Given the description of an element on the screen output the (x, y) to click on. 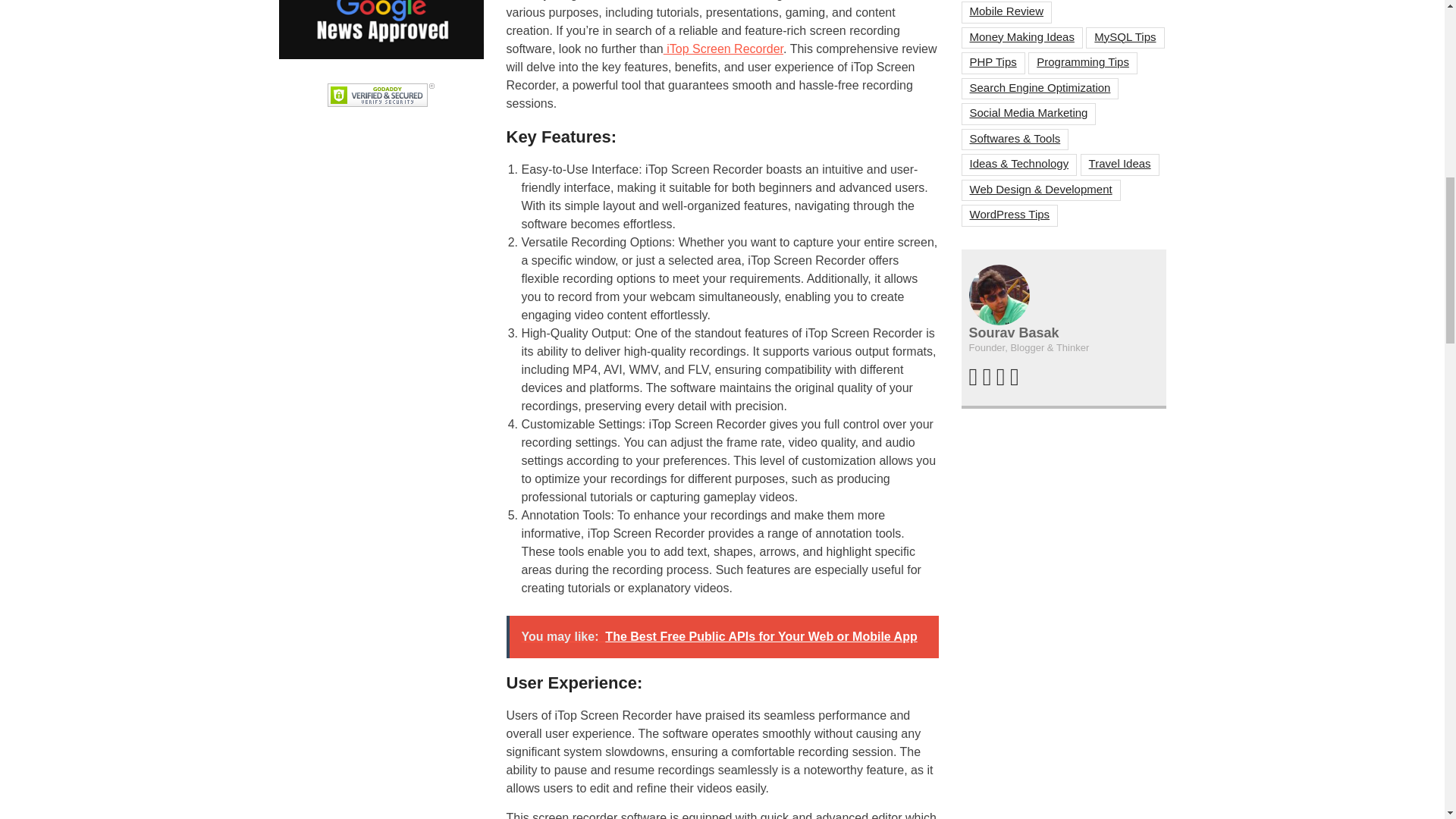
iTop Screen Recorder (723, 48)
